Given the description of an element on the screen output the (x, y) to click on. 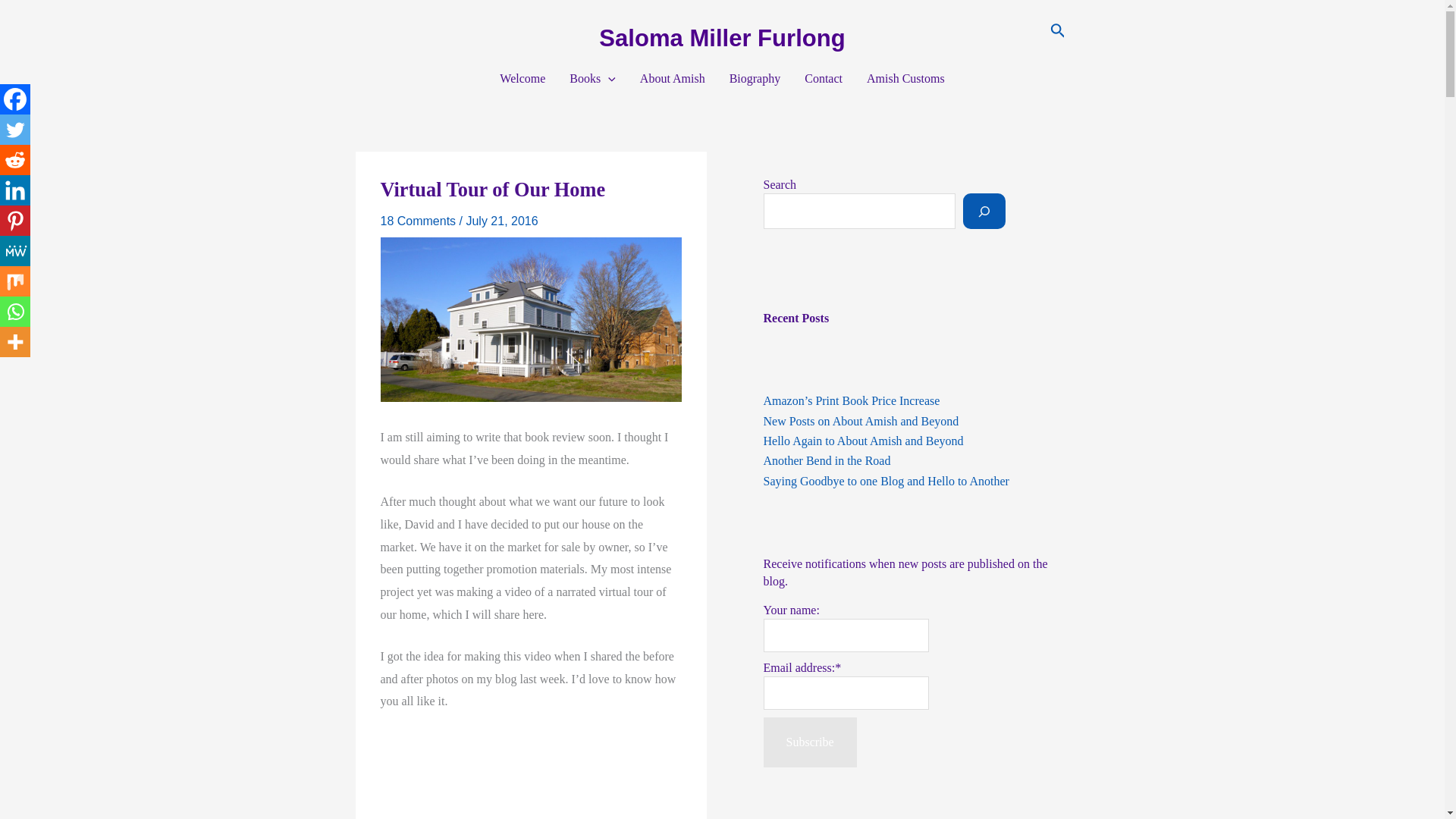
Facebook (15, 99)
Contact (823, 78)
Subscribe (809, 742)
Amish Customs (905, 78)
large (530, 775)
Saloma Miller Furlong (721, 38)
Books (592, 78)
18 Comments (418, 220)
About Amish (672, 78)
Twitter (15, 129)
